Given the description of an element on the screen output the (x, y) to click on. 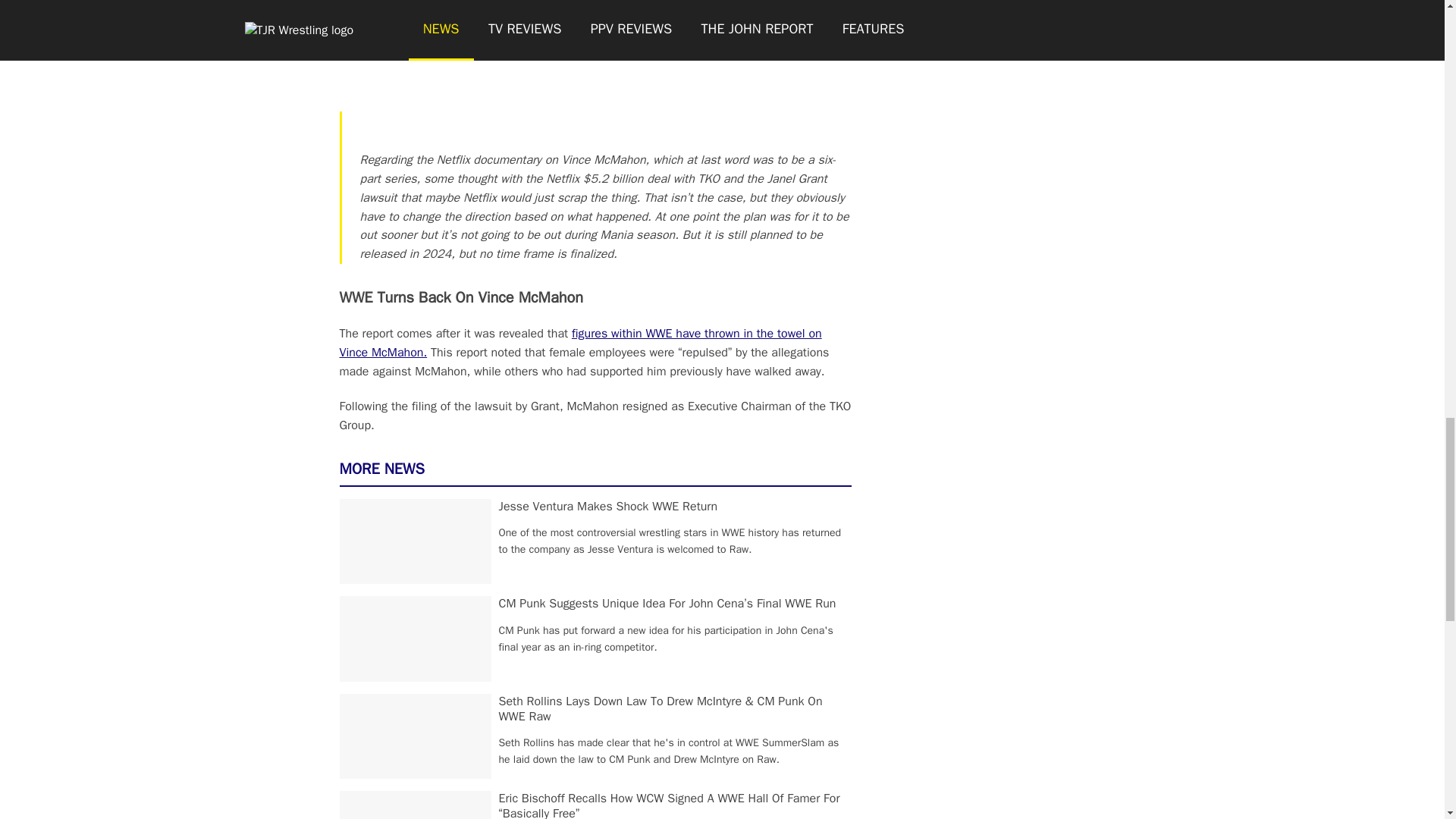
Jesse Ventura Makes Shock WWE Return (608, 506)
